Given the description of an element on the screen output the (x, y) to click on. 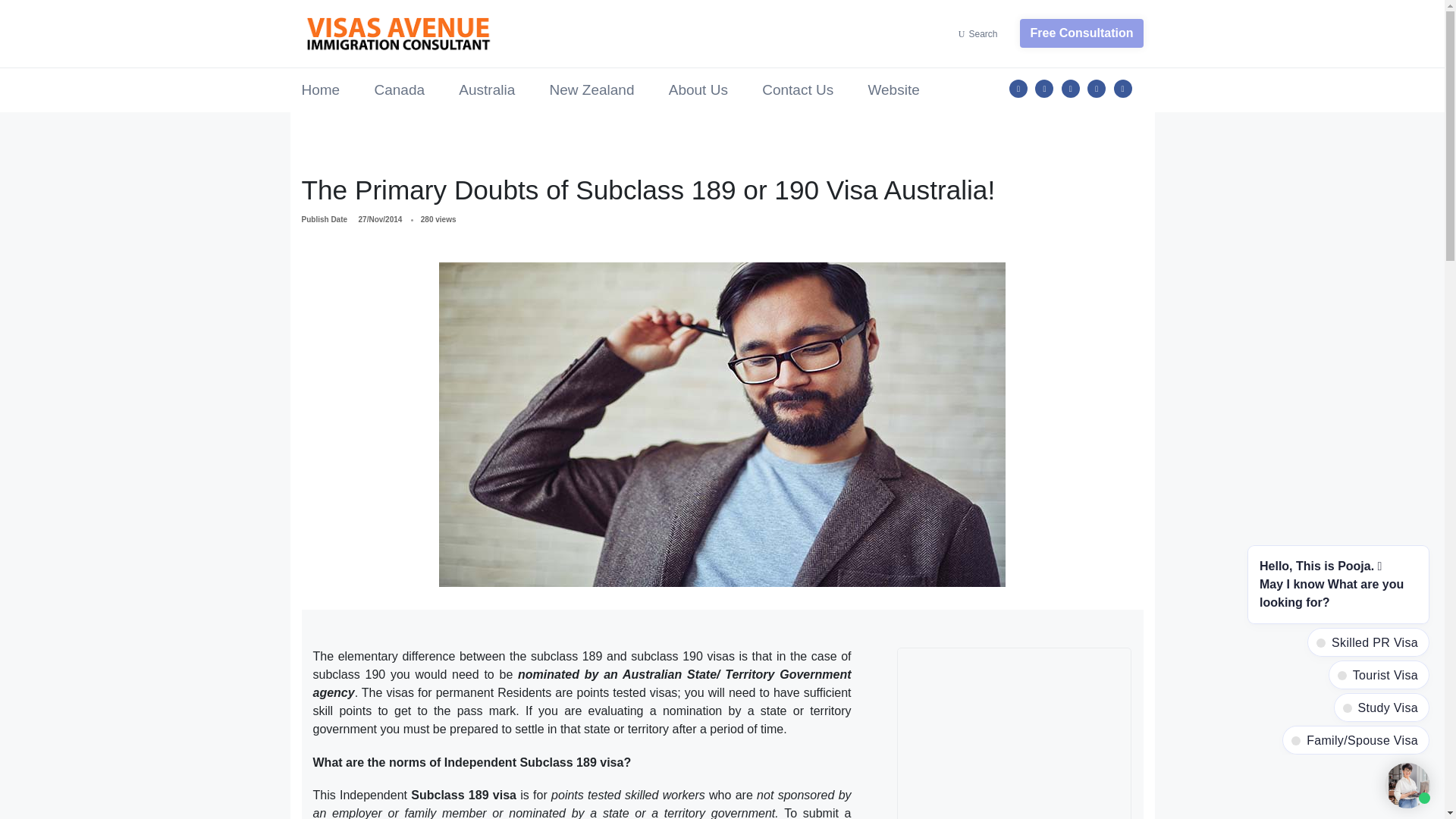
Pin it (1122, 88)
Website (892, 90)
New Zealand (592, 90)
Australia (486, 90)
Contact Us (796, 90)
Free Consultation (1075, 32)
Canada (399, 90)
Pin it (1096, 88)
About Us (698, 90)
Pin it (1070, 88)
Search (983, 33)
Free Consultation (1081, 32)
YouTube video player (1015, 733)
Facebook (1018, 88)
Tweet now (1043, 88)
